Given the description of an element on the screen output the (x, y) to click on. 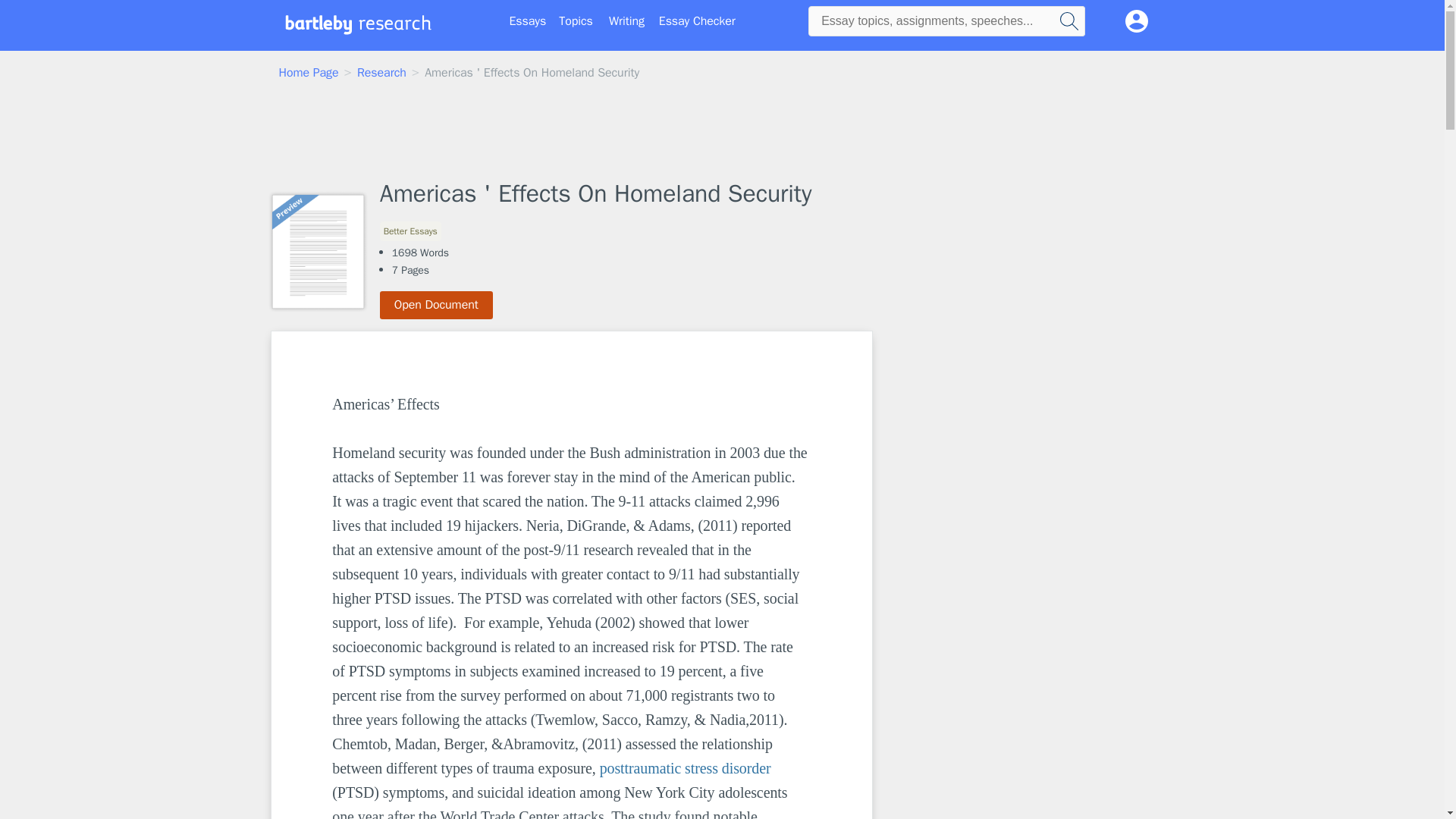
Open Document (436, 305)
Writing (626, 20)
Home Page (309, 72)
posttraumatic stress disorder (685, 768)
Topics (575, 20)
Essays (528, 20)
Research (381, 72)
Essay Checker (697, 20)
